Given the description of an element on the screen output the (x, y) to click on. 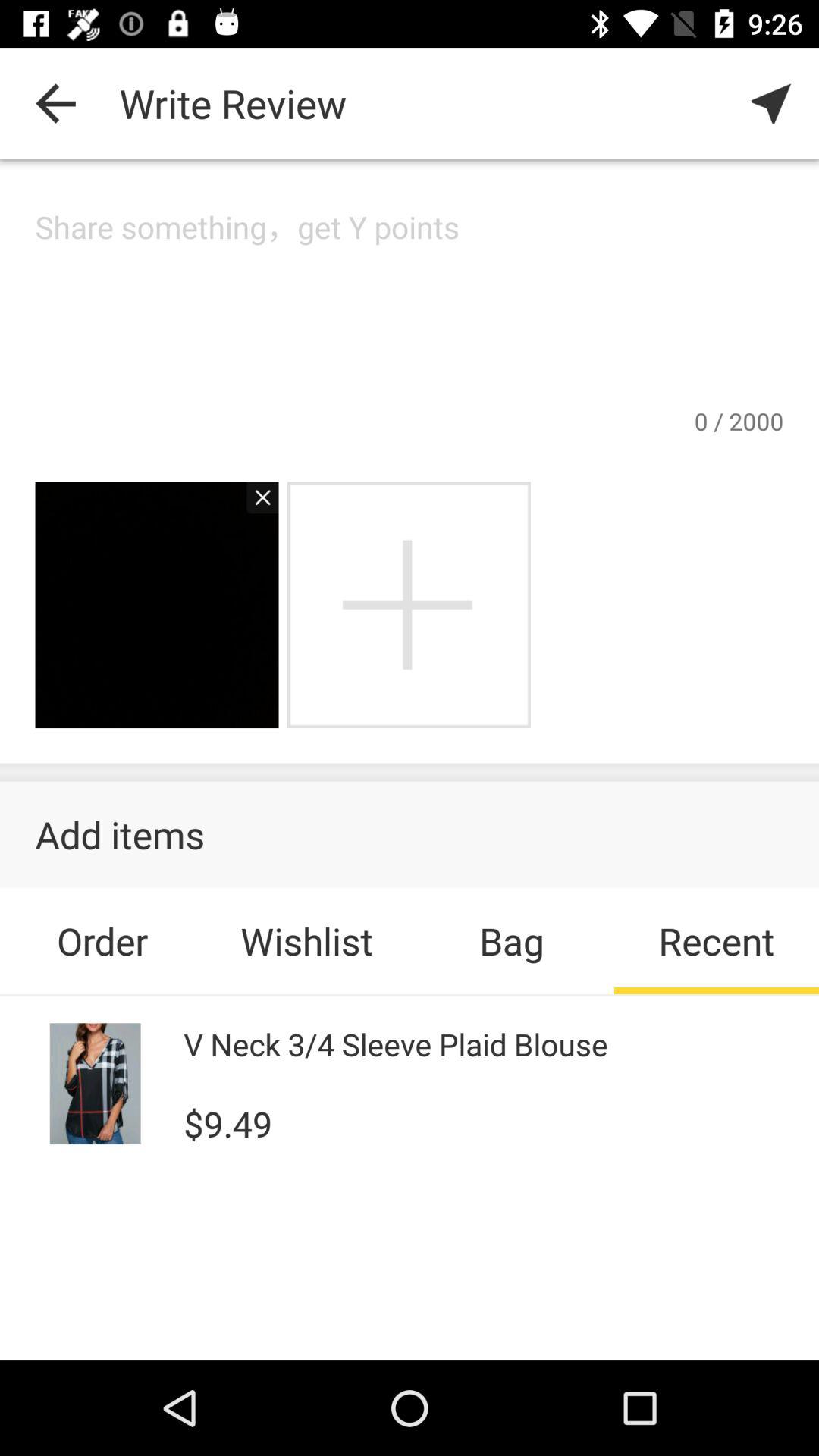
write review content (409, 304)
